Given the description of an element on the screen output the (x, y) to click on. 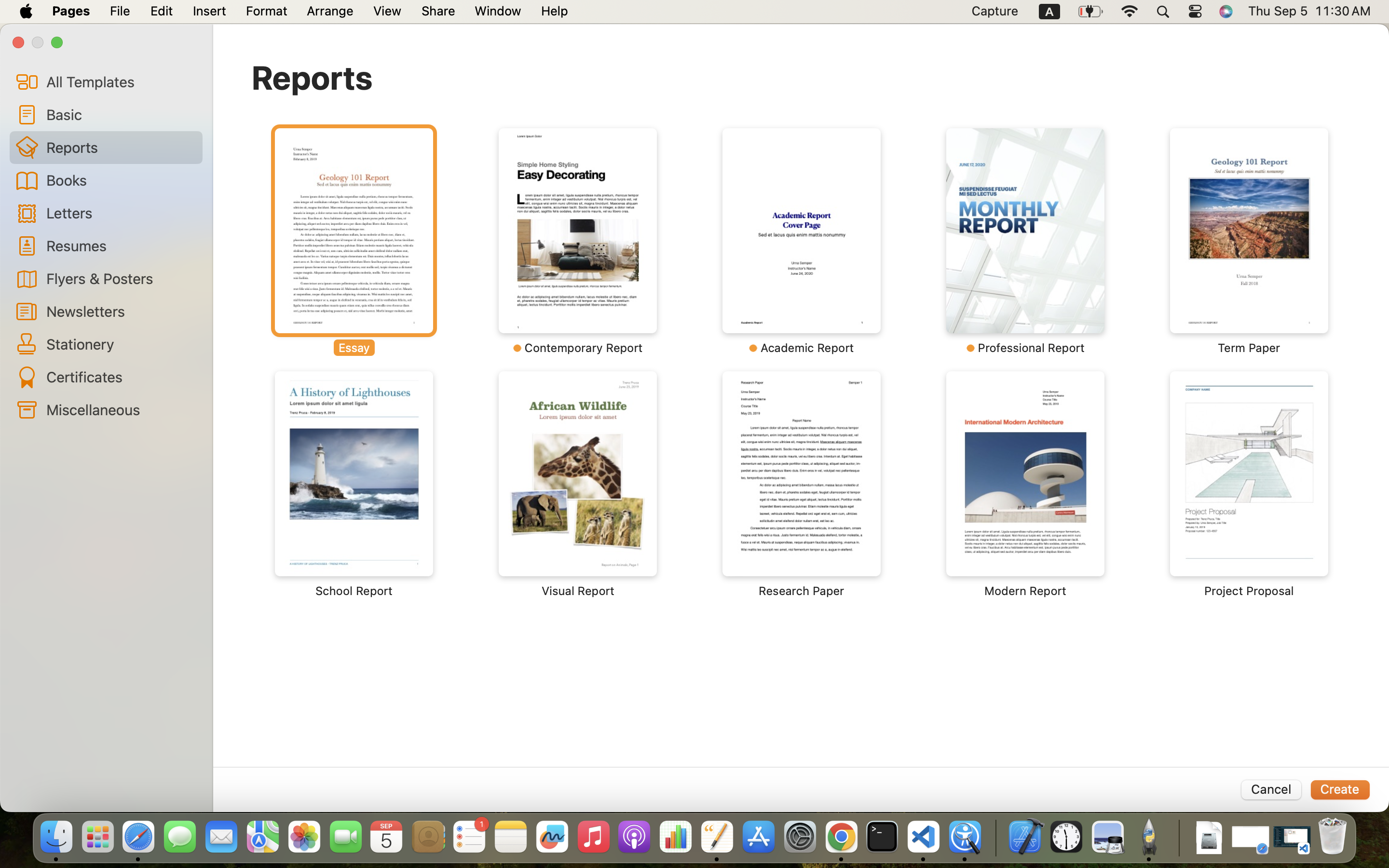
‎￼ ⁨Contemporary Report⁩ Element type: AXButton (577, 241)
Stationery Element type: AXStaticText (120, 343)
‎⁨Term Paper⁩ Element type: AXButton (1249, 241)
‎￼ ⁨Professional Report⁩ Element type: AXButton (1025, 241)
Basic Element type: AXStaticText (120, 114)
